Given the description of an element on the screen output the (x, y) to click on. 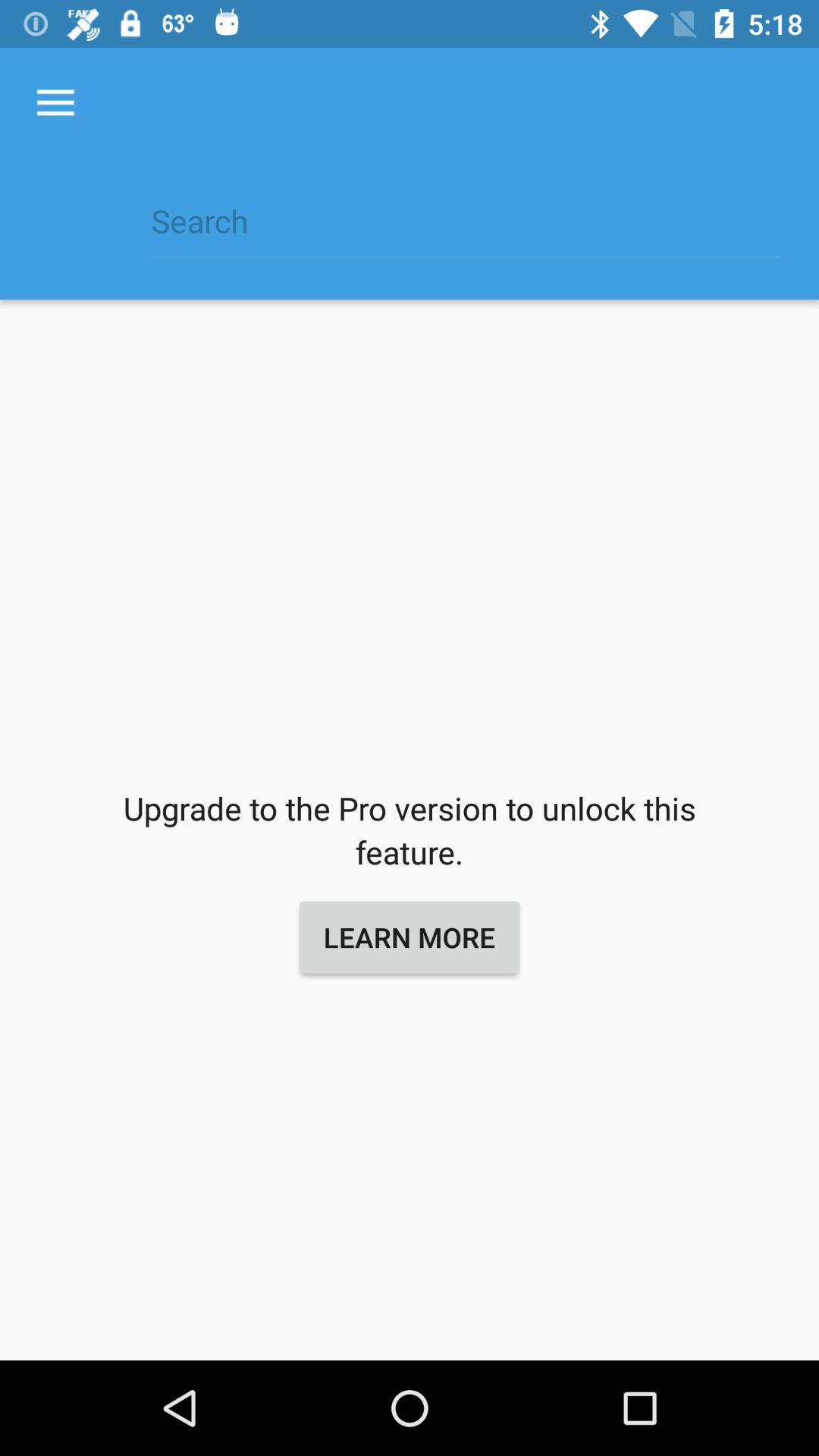
turn off the item below the upgrade to the (409, 937)
